Given the description of an element on the screen output the (x, y) to click on. 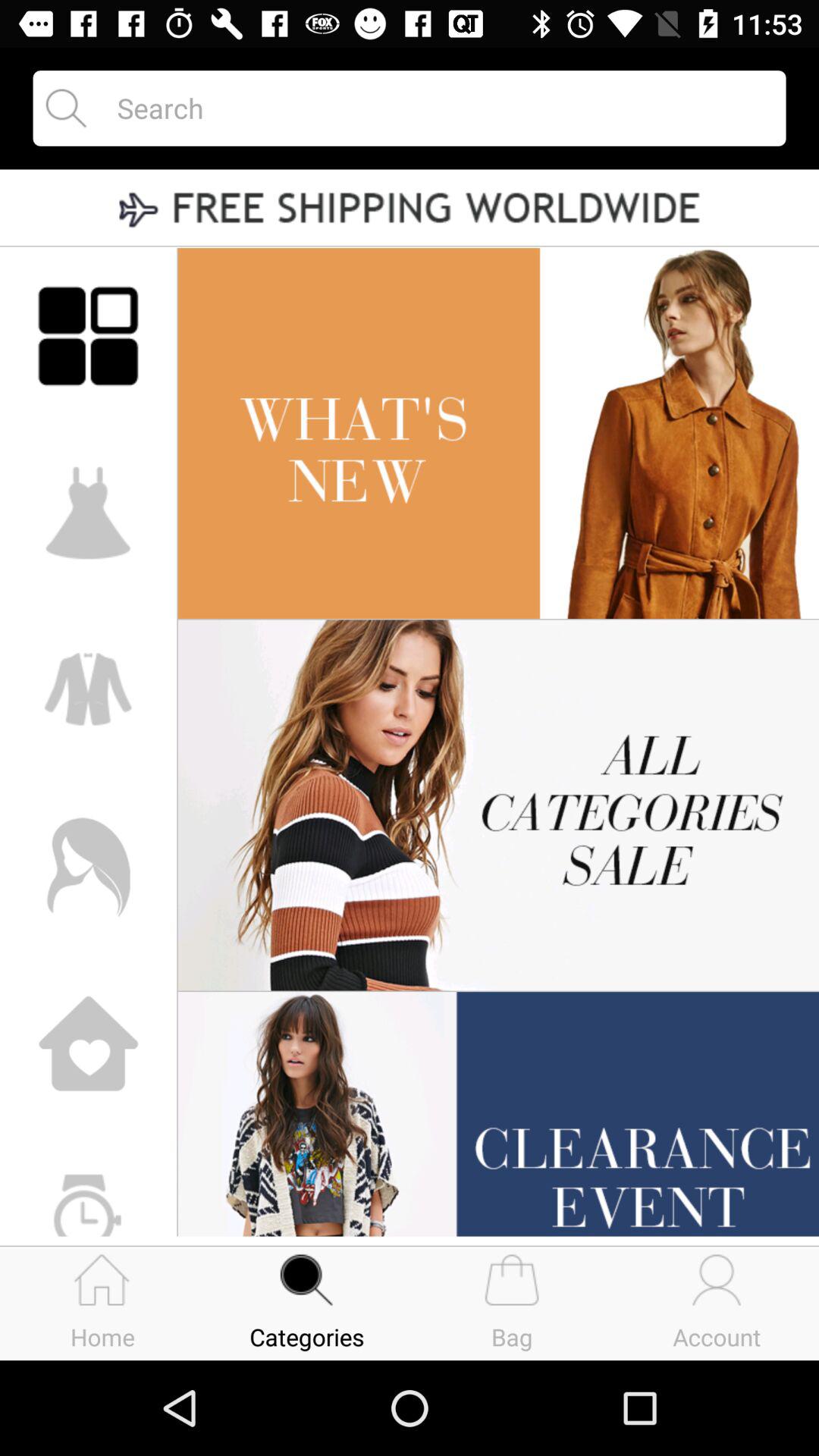
search button (437, 108)
